Given the description of an element on the screen output the (x, y) to click on. 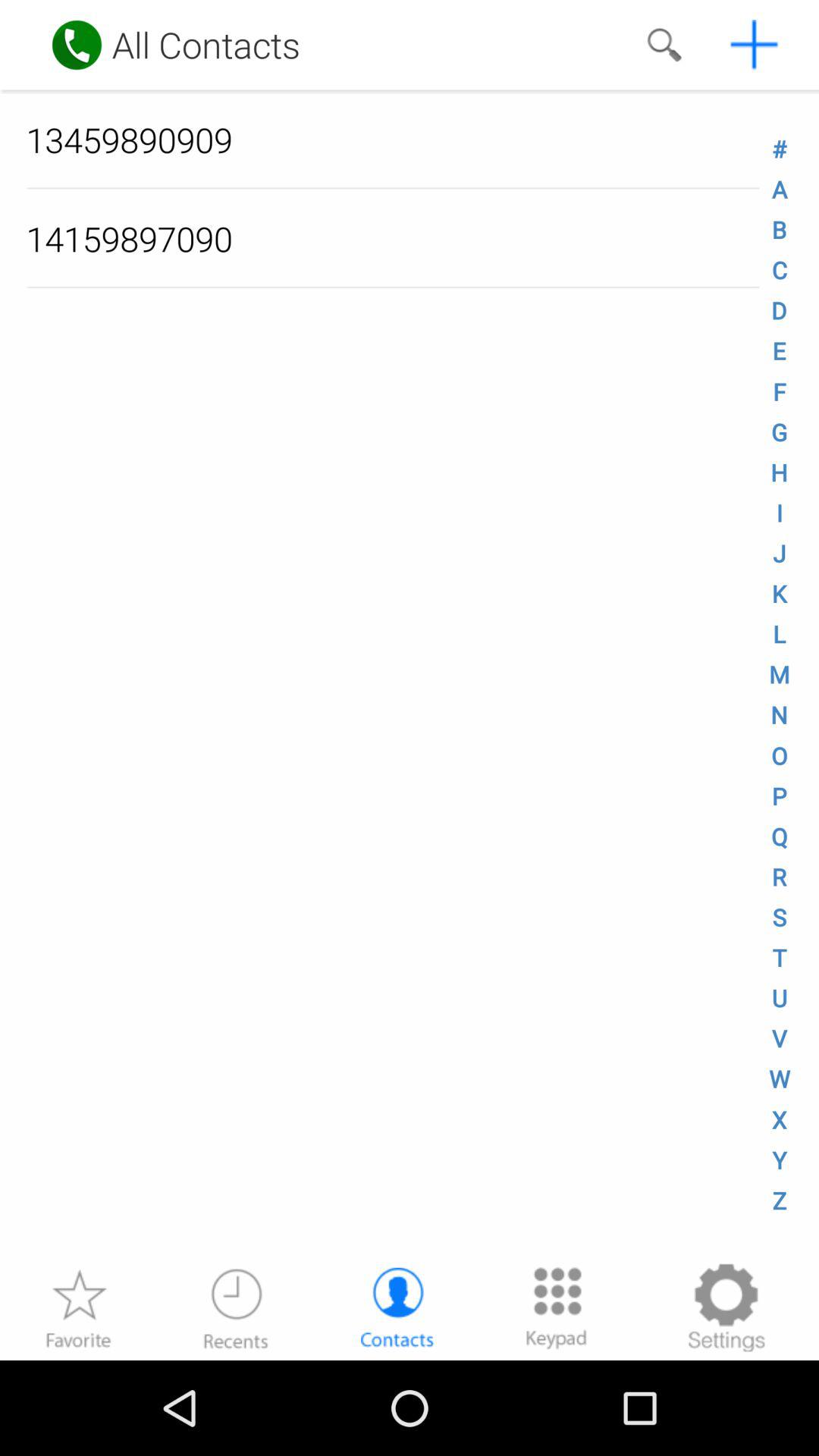
call button (76, 44)
